Given the description of an element on the screen output the (x, y) to click on. 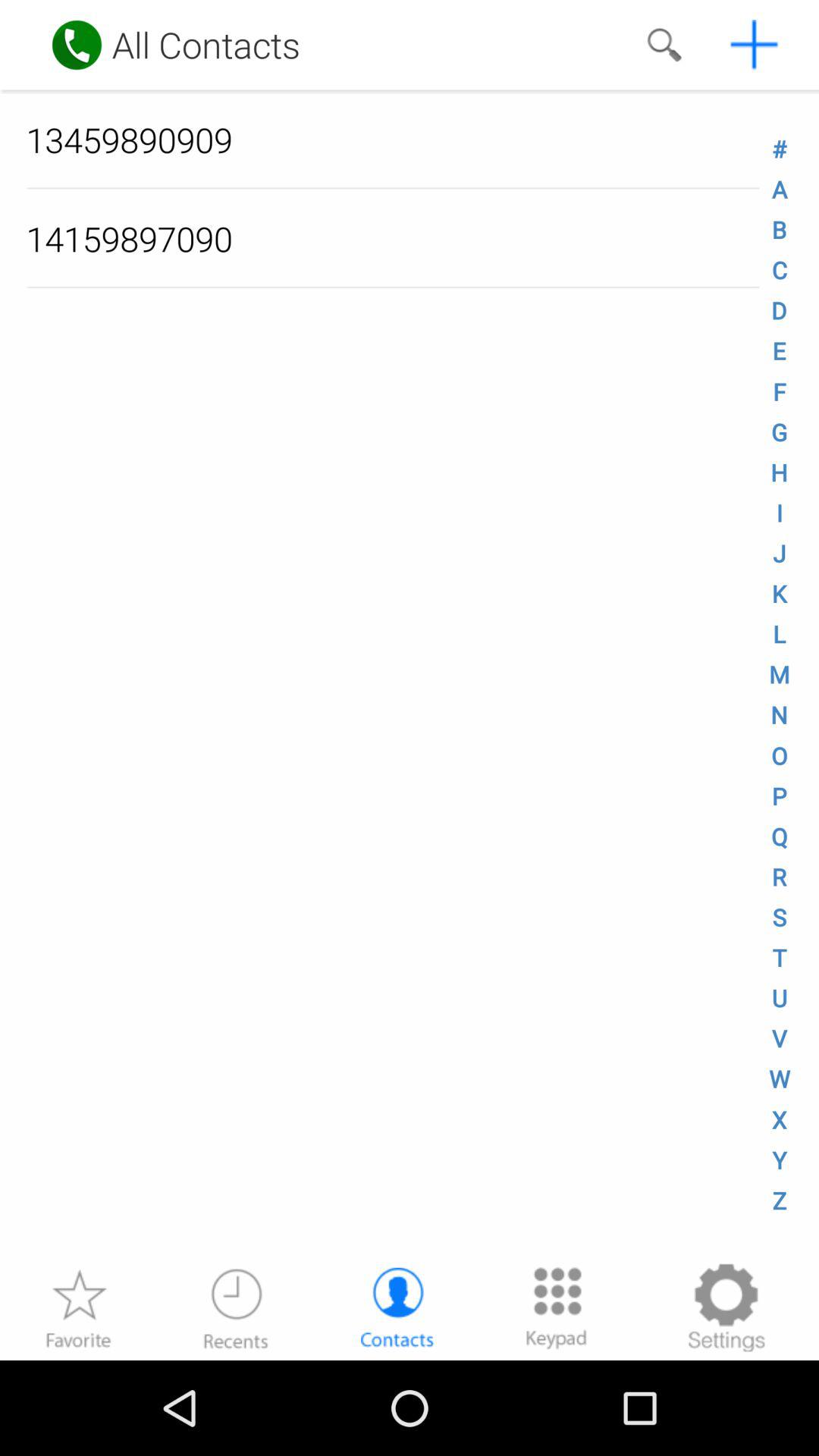
call button (76, 44)
